Given the description of an element on the screen output the (x, y) to click on. 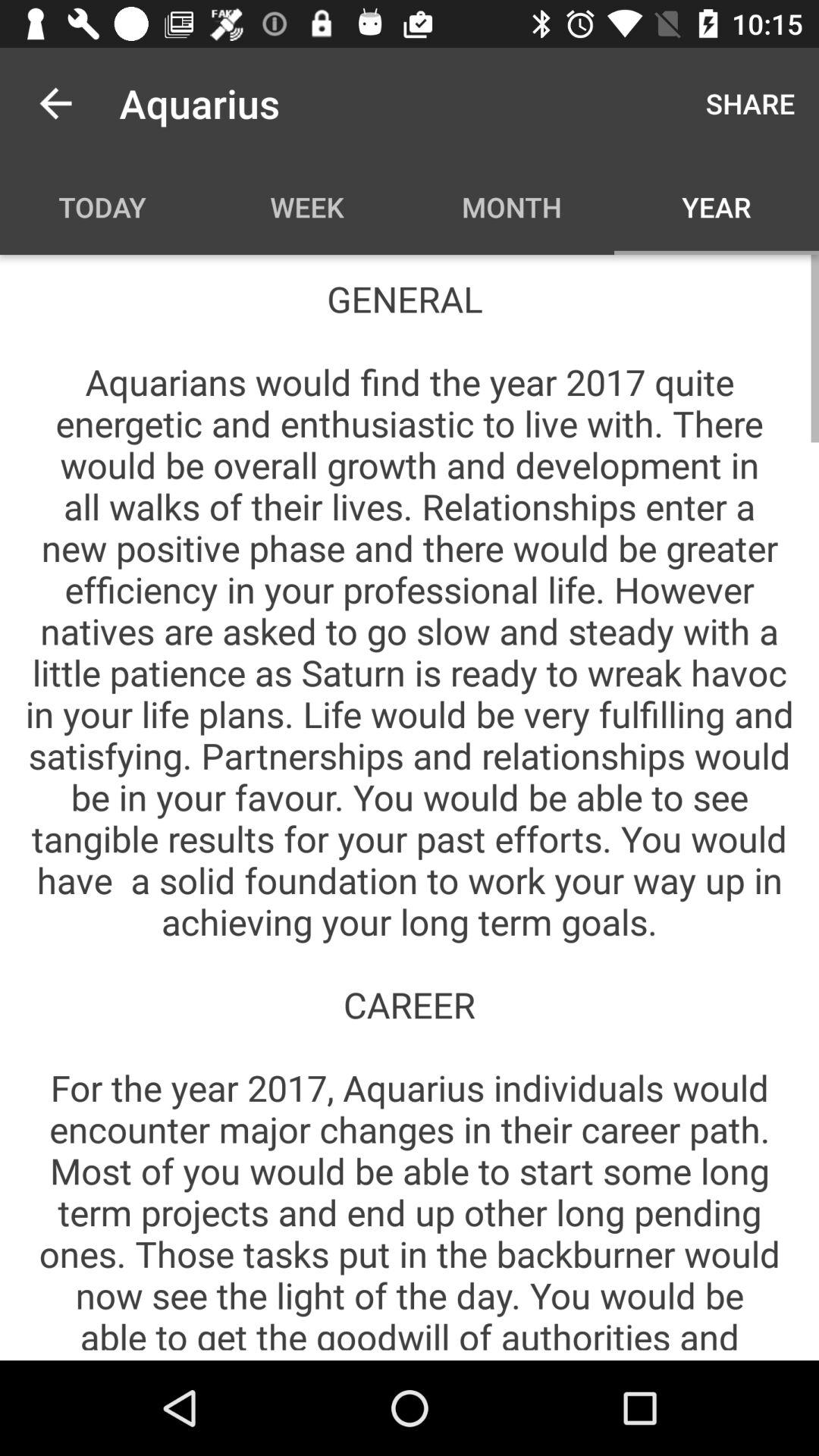
launch the share item (750, 103)
